Given the description of an element on the screen output the (x, y) to click on. 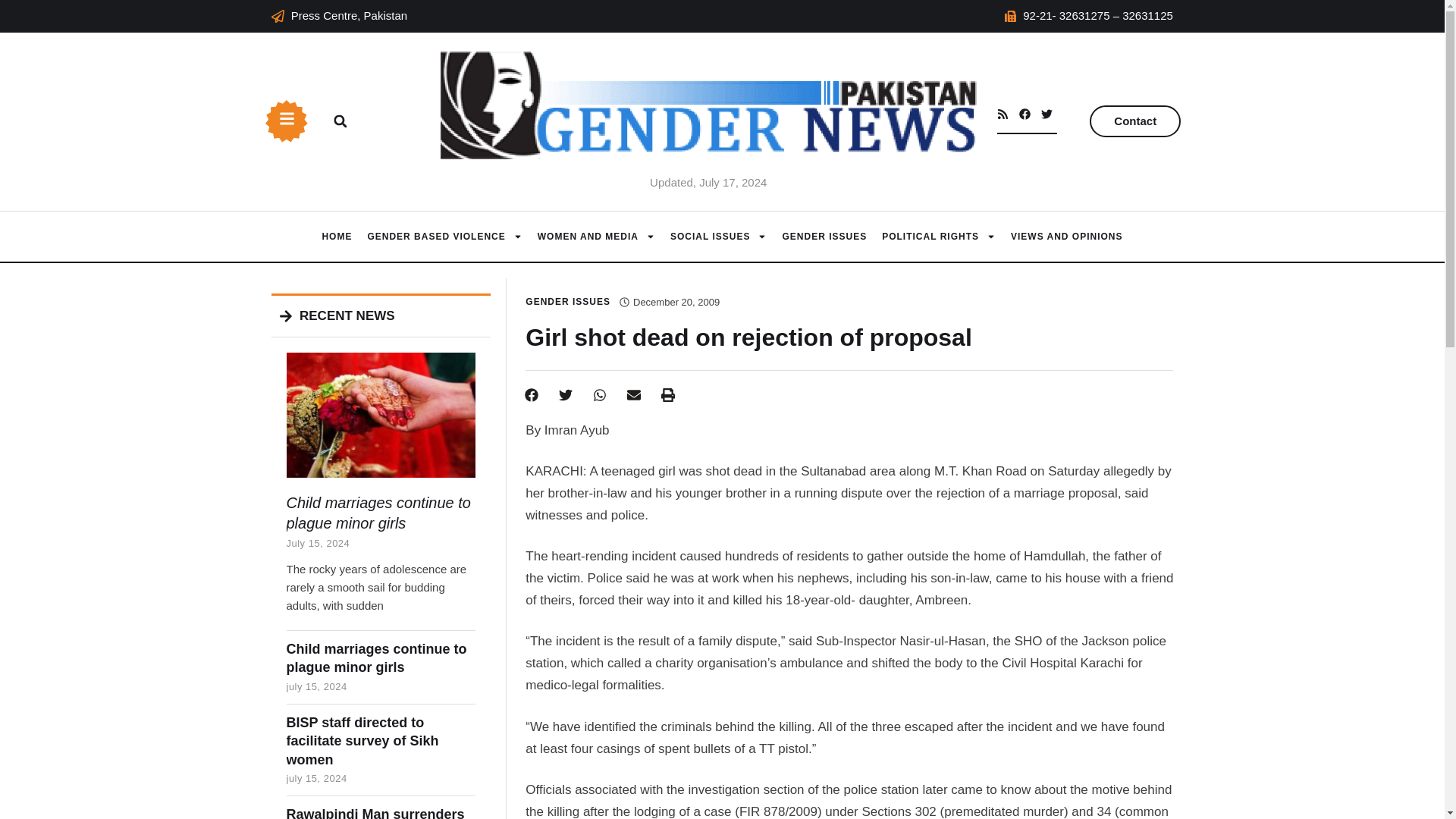
GENDER ISSUES (824, 236)
Pakistan Gender News (336, 236)
HOME (336, 236)
SOCIAL ISSUES (718, 236)
POLITICAL RIGHTS (939, 236)
Women and Media (595, 236)
Political Rights (939, 236)
Gender Issues (824, 236)
Views and Opinions (1067, 236)
VIEWS AND OPINIONS (1067, 236)
GENDER BASED VIOLENCE (444, 236)
WOMEN AND MEDIA (595, 236)
Social Issues (718, 236)
Gender Based Violence (444, 236)
Contact (1134, 120)
